Given the description of an element on the screen output the (x, y) to click on. 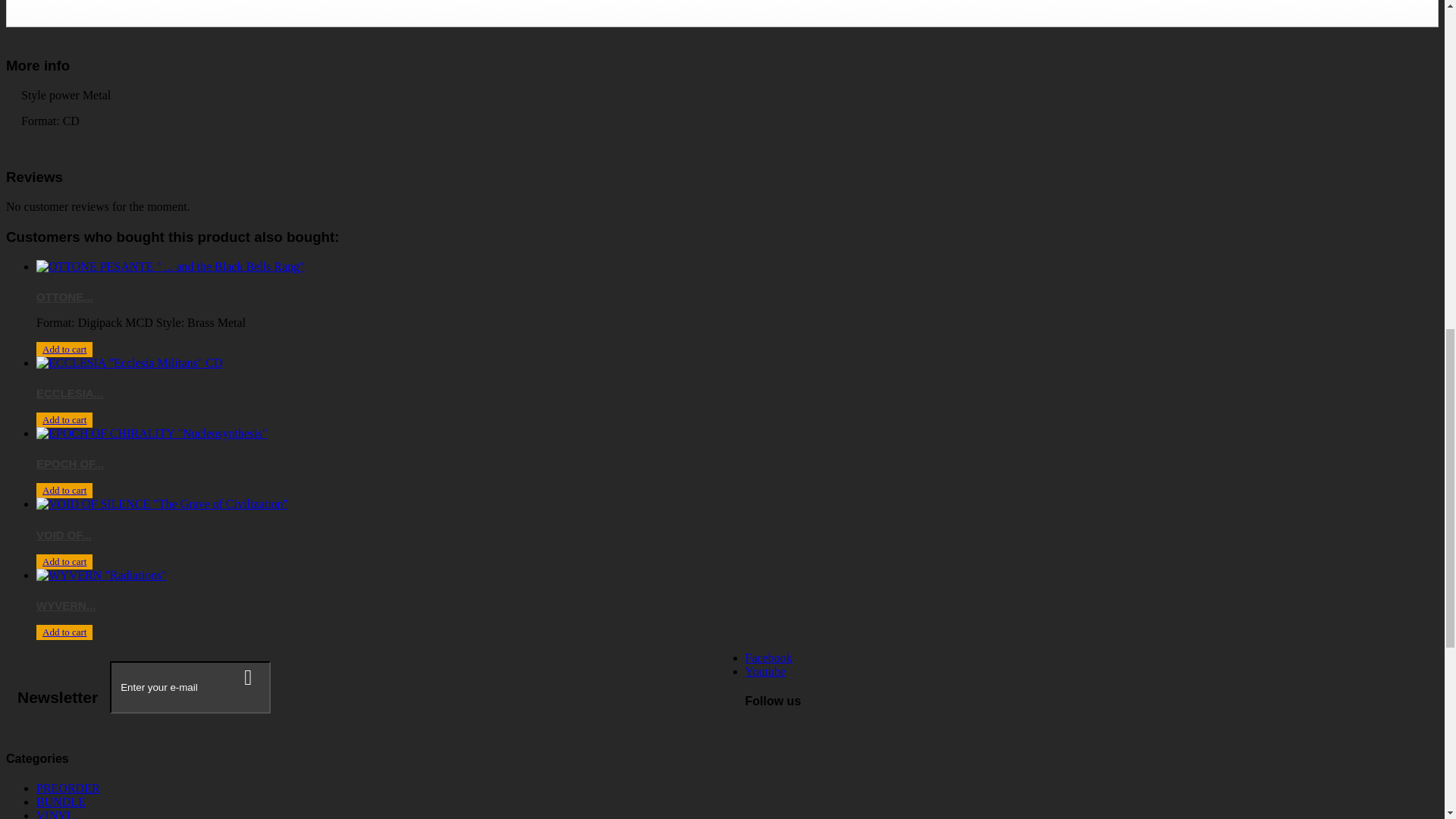
Enter your e-mail (190, 686)
